Given the description of an element on the screen output the (x, y) to click on. 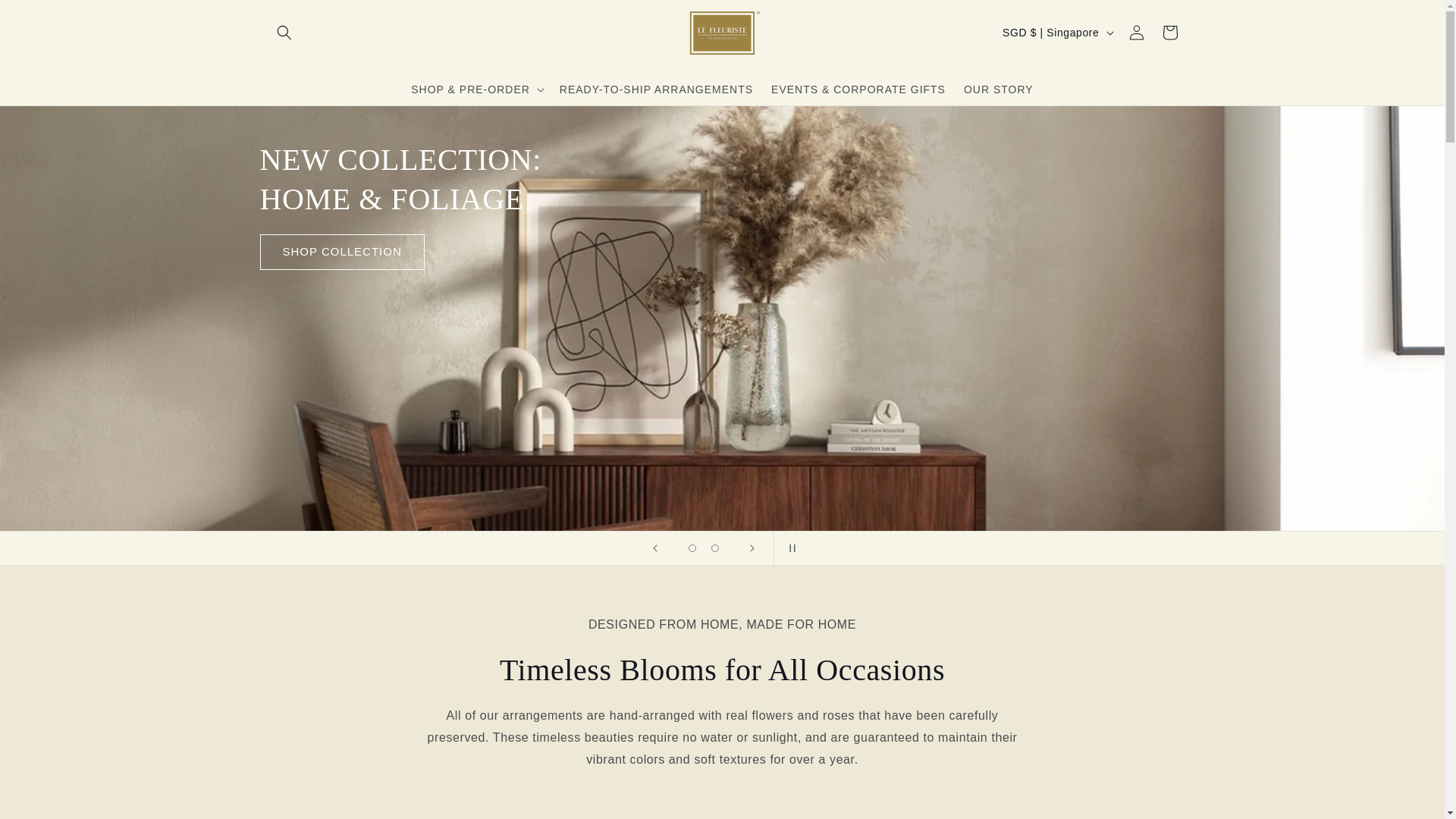
Log in (1136, 32)
Skip to content (45, 17)
Cart (1169, 32)
READY-TO-SHIP ARRANGEMENTS (655, 88)
OUR STORY (998, 88)
